Given the description of an element on the screen output the (x, y) to click on. 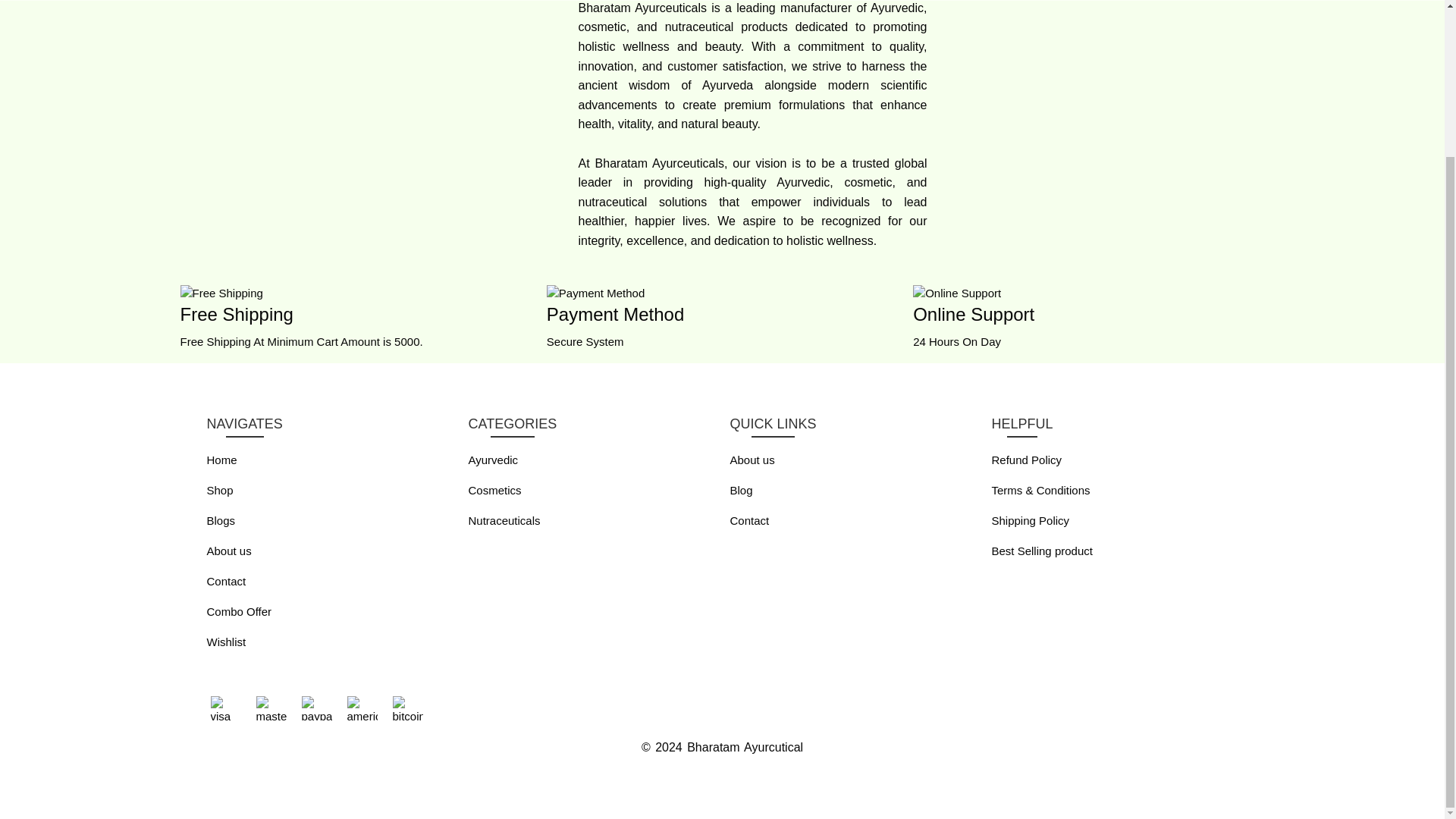
Ayurvedic (493, 459)
Combo Offer (238, 611)
About us (228, 550)
Wishlist (226, 641)
Shop (219, 490)
Nutraceuticals (504, 520)
Cosmetics (494, 490)
Contact (226, 581)
Home (220, 459)
Blogs (220, 520)
